Given the description of an element on the screen output the (x, y) to click on. 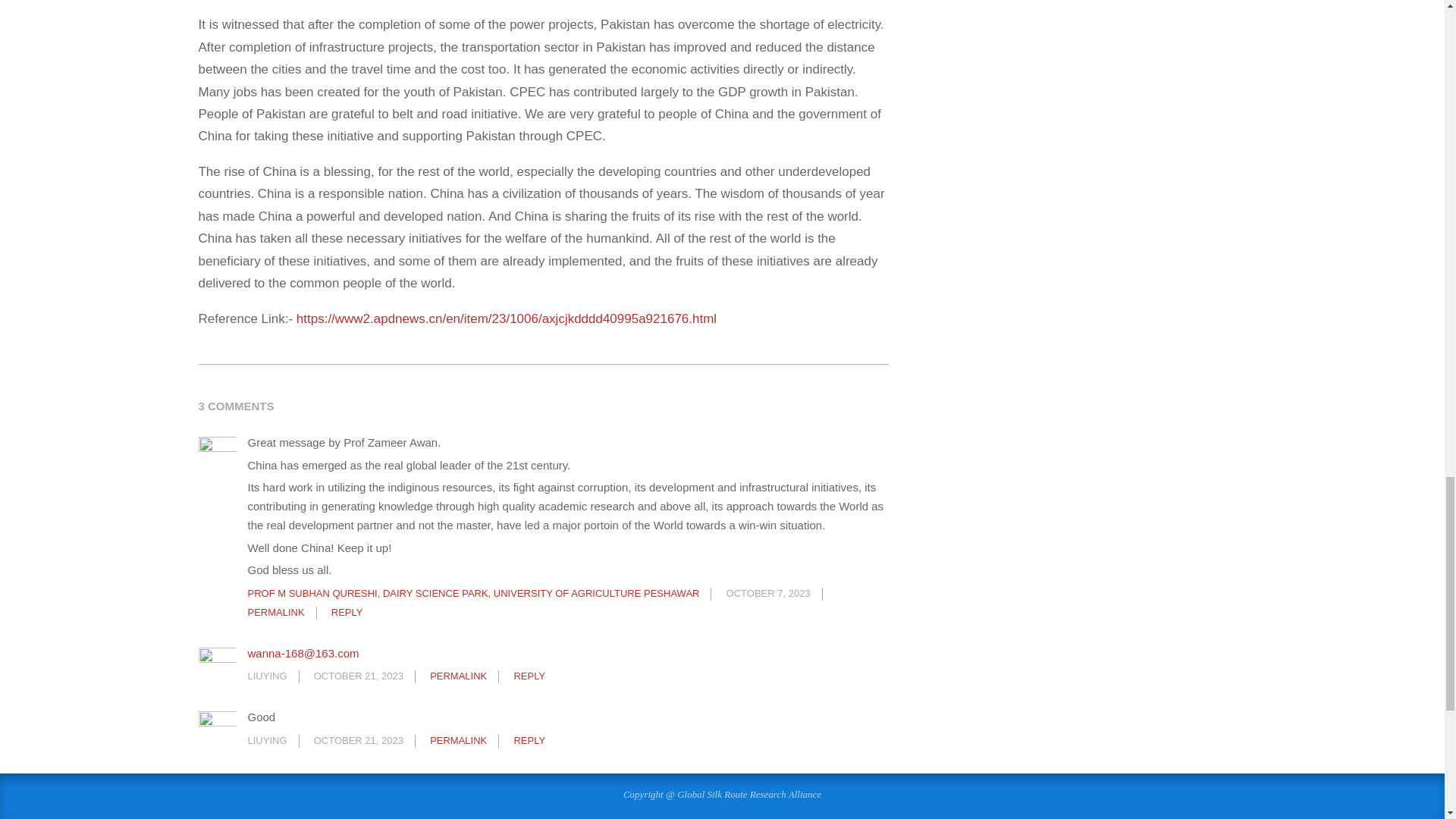
Saturday, October 7, 2023, 7:05 am (768, 593)
Saturday, October 21, 2023, 11:33 pm (358, 675)
Saturday, October 21, 2023, 11:34 pm (358, 740)
